Given the description of an element on the screen output the (x, y) to click on. 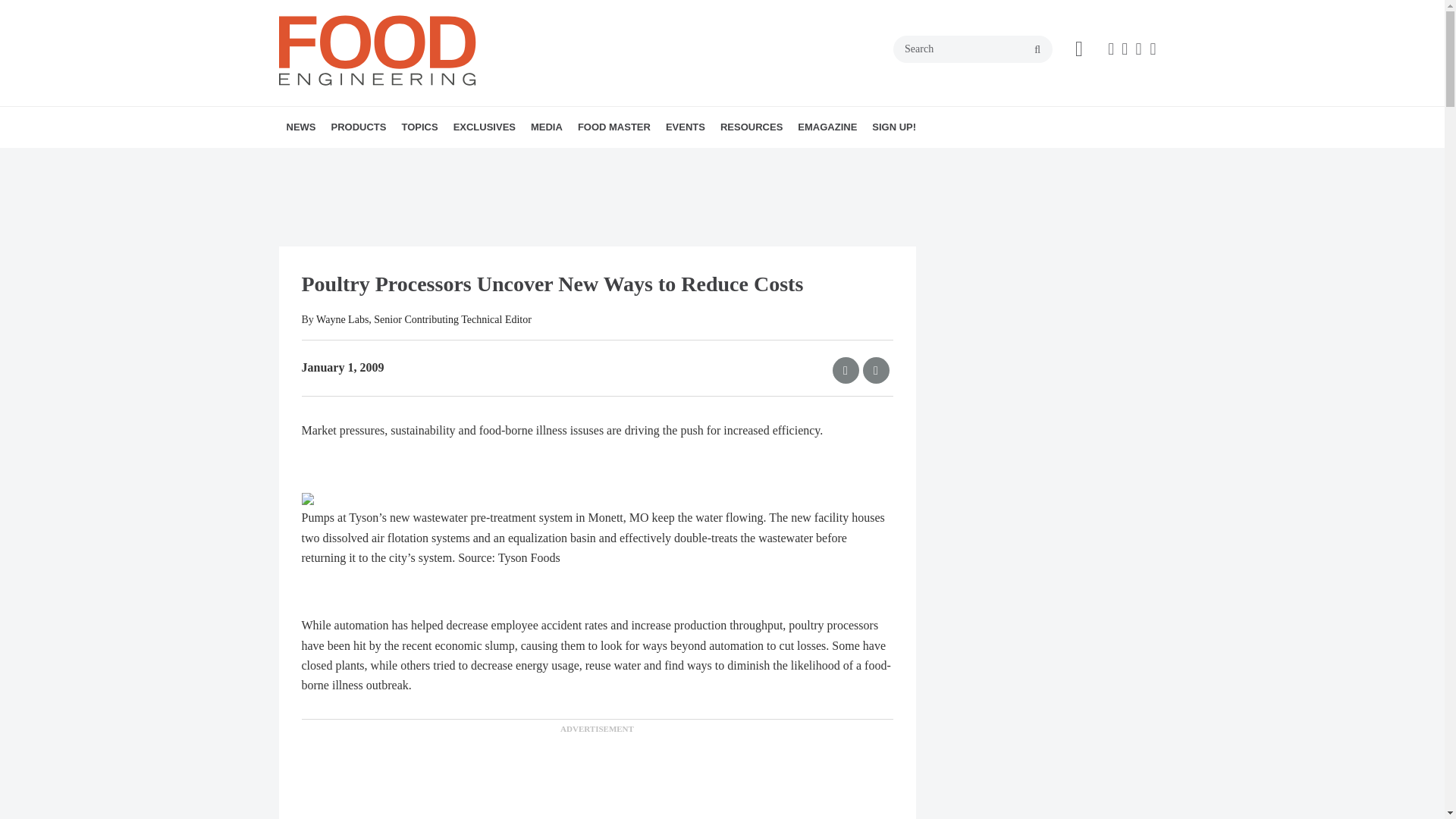
search (1037, 50)
PACKAGING (525, 160)
AUTOMATION (496, 160)
NEW PLANT PRODUCTS (417, 160)
OEE (522, 160)
REGULATORY WATCH (400, 160)
FABULOUS FOOD PLANTS (512, 160)
SUSTAINABILITY (528, 160)
CANNABIS (501, 160)
LATEST HEADLINES (373, 160)
